Given the description of an element on the screen output the (x, y) to click on. 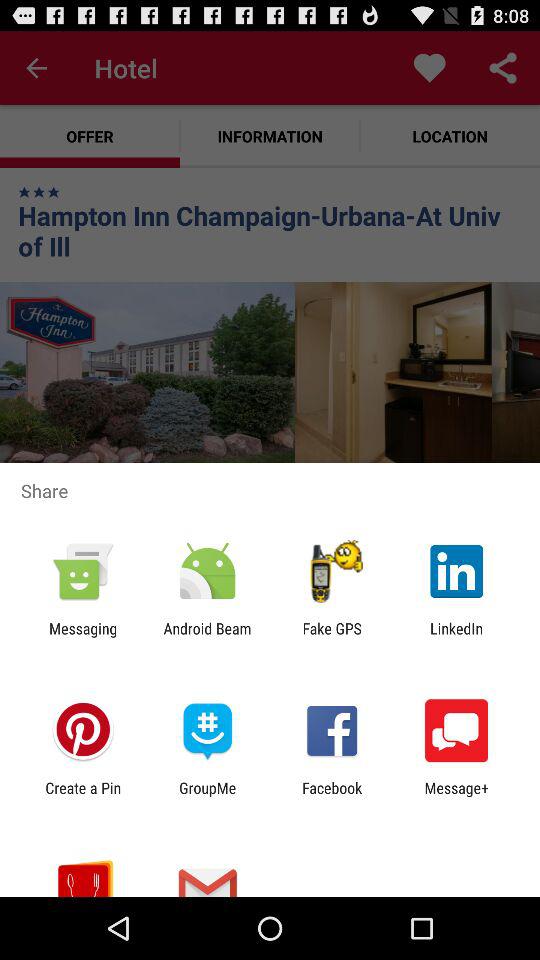
swipe until the facebook icon (332, 796)
